Given the description of an element on the screen output the (x, y) to click on. 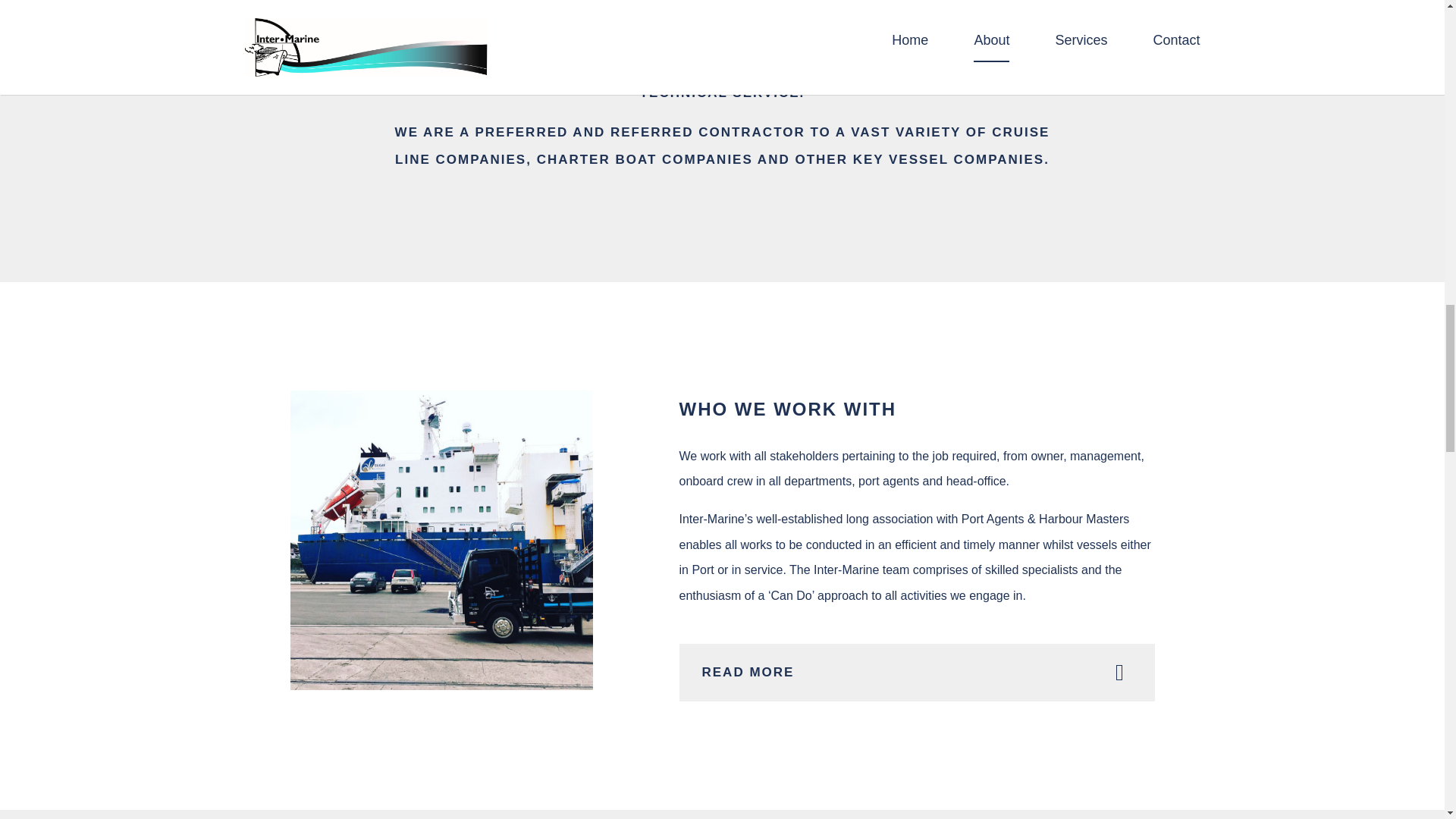
READ (916, 672)
